Given the description of an element on the screen output the (x, y) to click on. 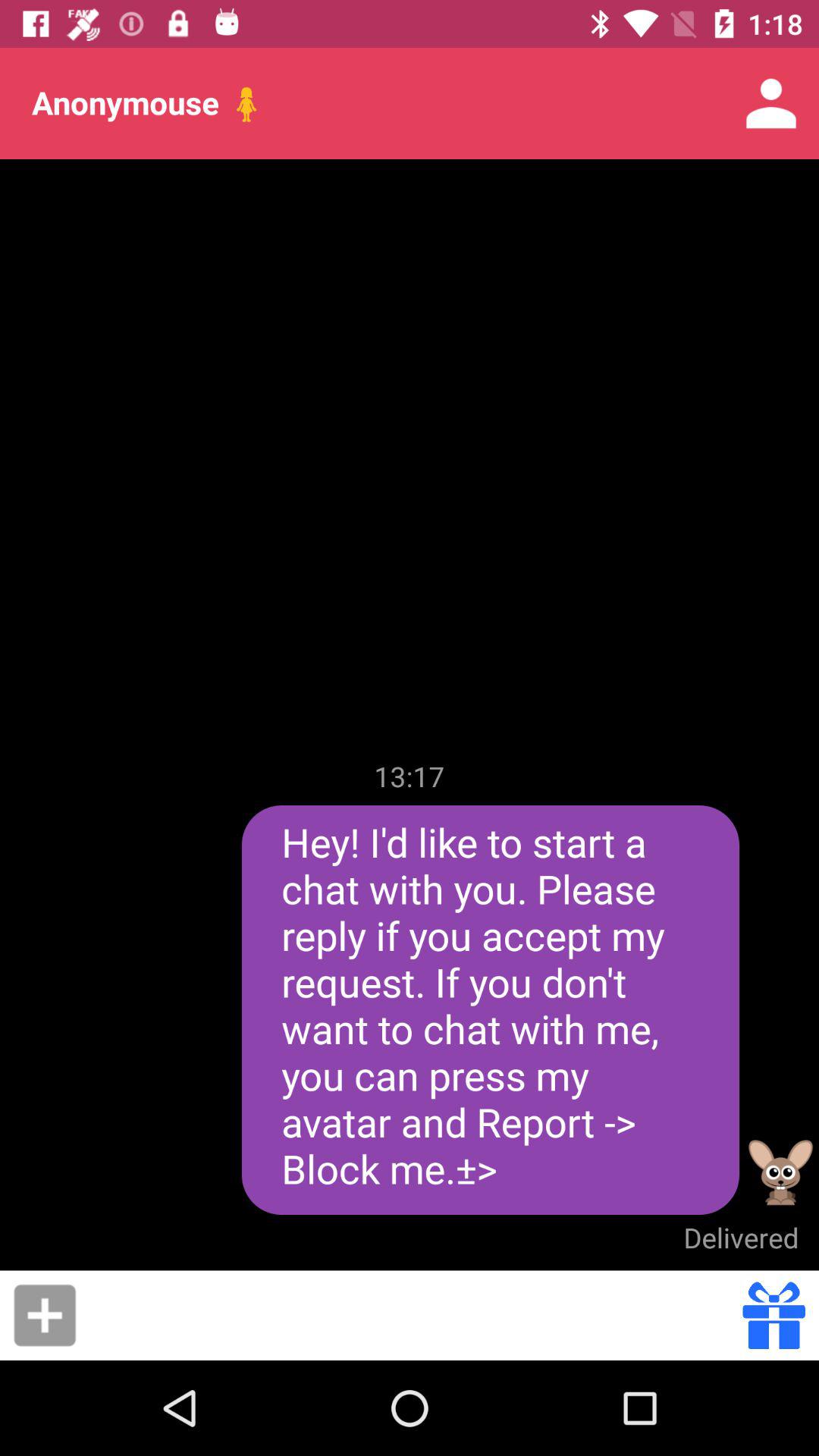
scroll to the 13:17 icon (409, 776)
